Given the description of an element on the screen output the (x, y) to click on. 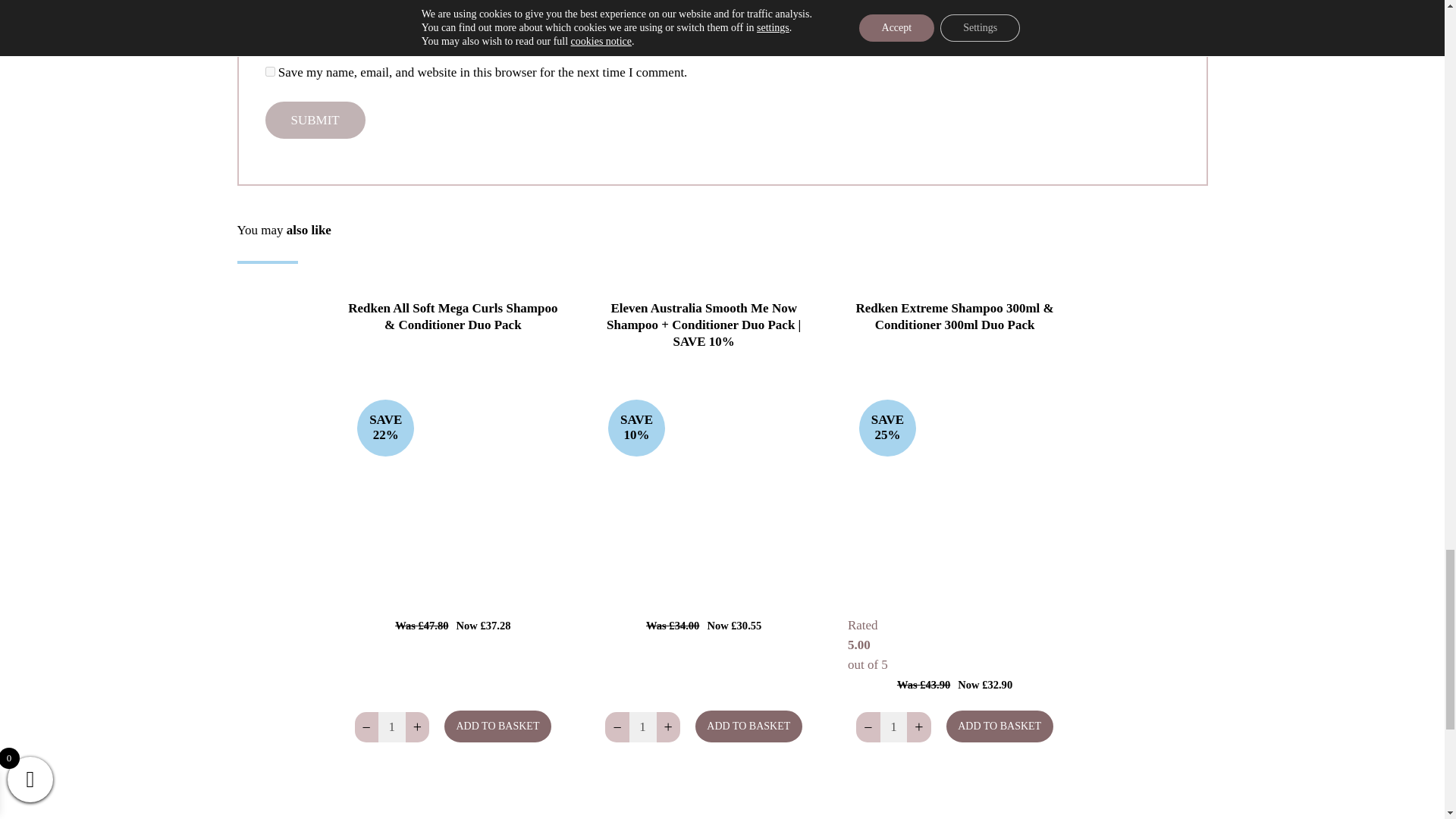
yes (269, 71)
1 (892, 726)
Submit (314, 119)
1 (642, 726)
1 (391, 726)
